Given the description of an element on the screen output the (x, y) to click on. 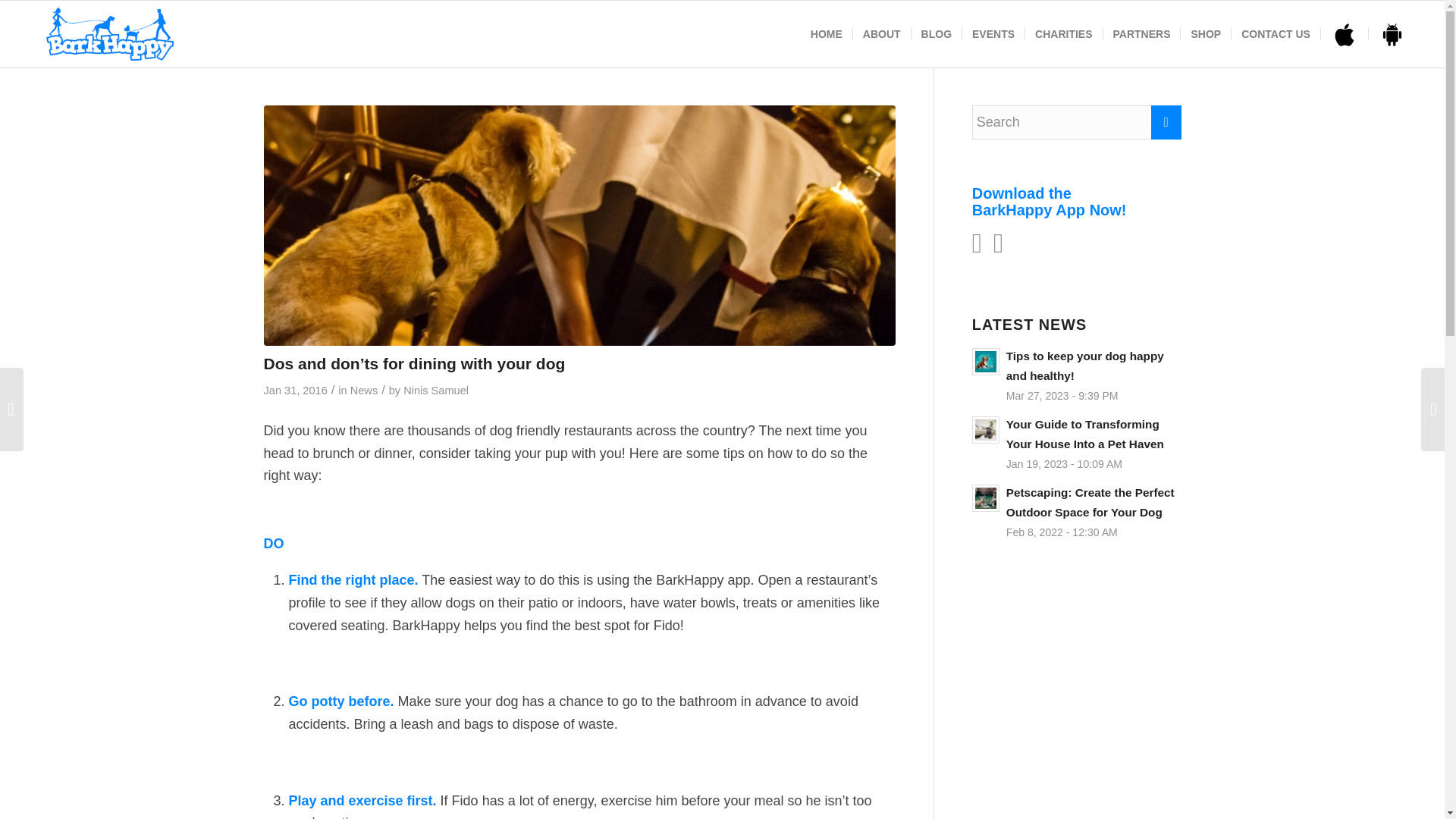
CONTACT US (1275, 33)
Petscaping: Create the Perfect Outdoor Space for Your Dog (1076, 511)
Posts by Ninis Samuel (435, 390)
PARTNERS (1141, 33)
CHARITIES (1063, 33)
EVENTS (992, 33)
News (363, 390)
Tips to keep your dog happy and healthy! (1076, 374)
Ninis Samuel (435, 390)
Your Guide to Transforming Your House Into a Pet Haven (1076, 443)
